Given the description of an element on the screen output the (x, y) to click on. 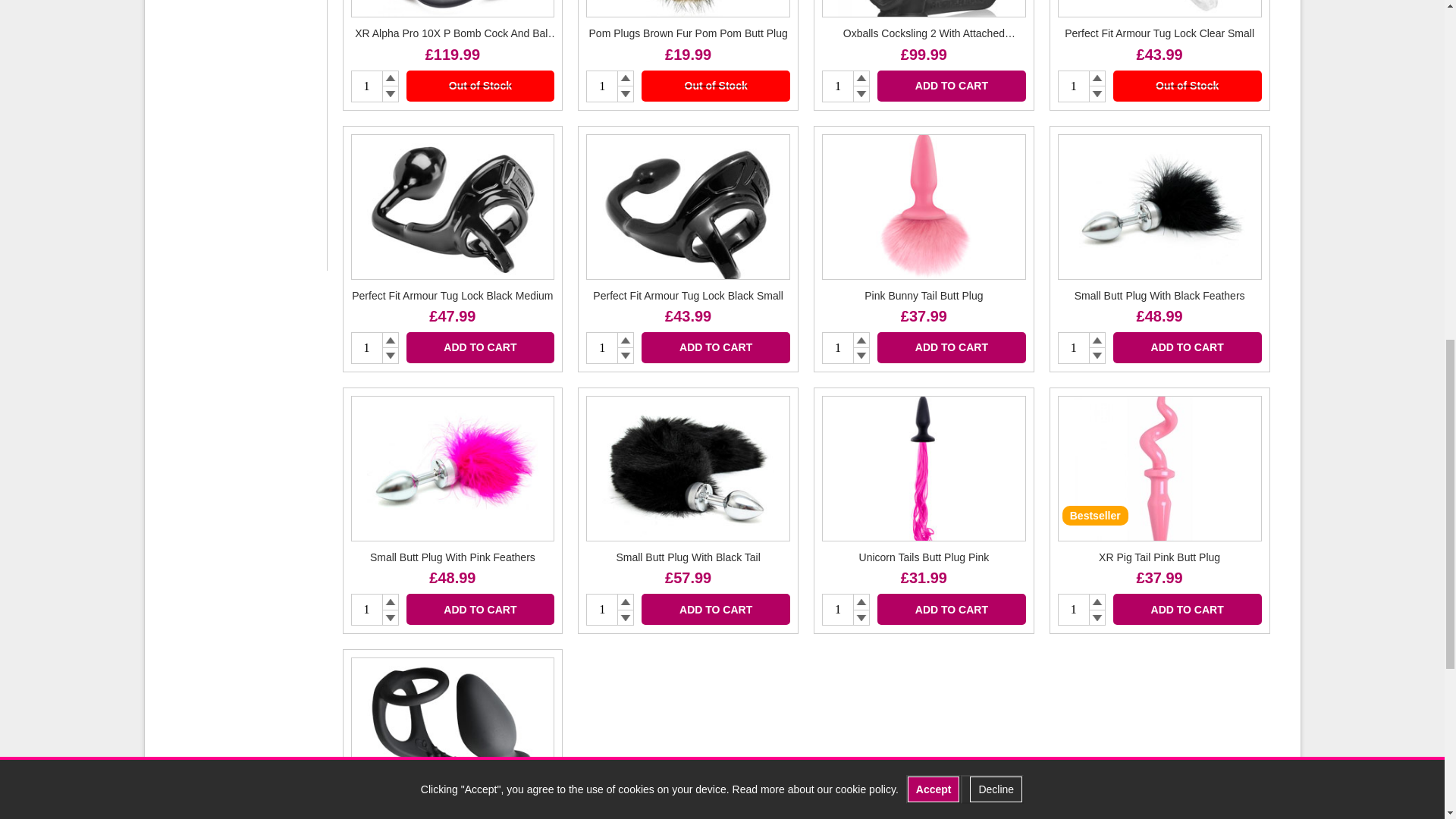
1 (601, 609)
1 (837, 86)
1 (601, 347)
1 (365, 347)
1 (837, 347)
1 (1073, 347)
1 (365, 609)
1 (837, 609)
1 (1073, 609)
1 (365, 86)
1 (601, 86)
1 (1073, 86)
